Given the description of an element on the screen output the (x, y) to click on. 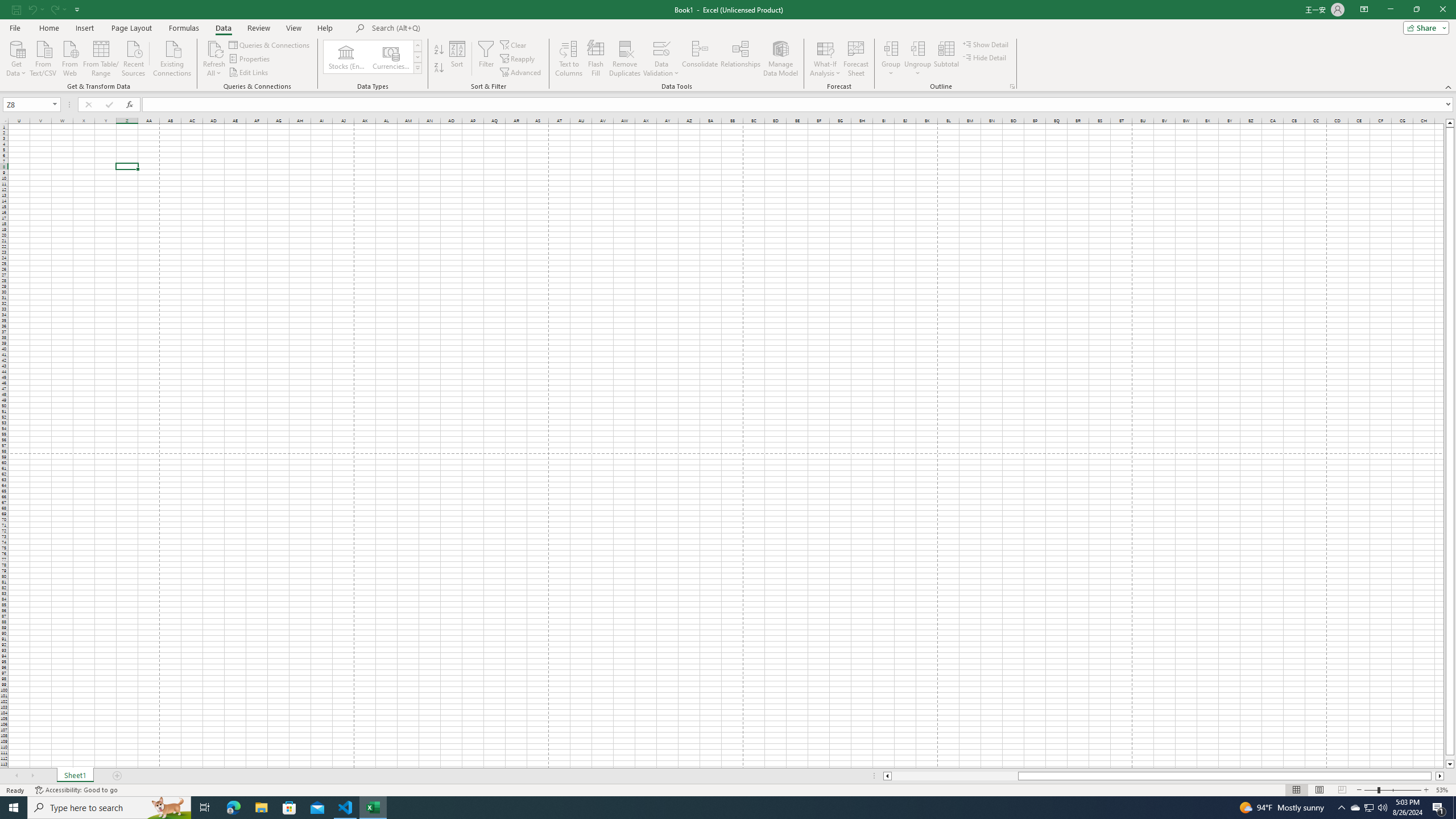
What-If Analysis (825, 58)
From Web (69, 57)
From Table/Range (100, 57)
Edit Links (249, 72)
Remove Duplicates (625, 58)
Filter (485, 58)
Forecast Sheet (856, 58)
